Given the description of an element on the screen output the (x, y) to click on. 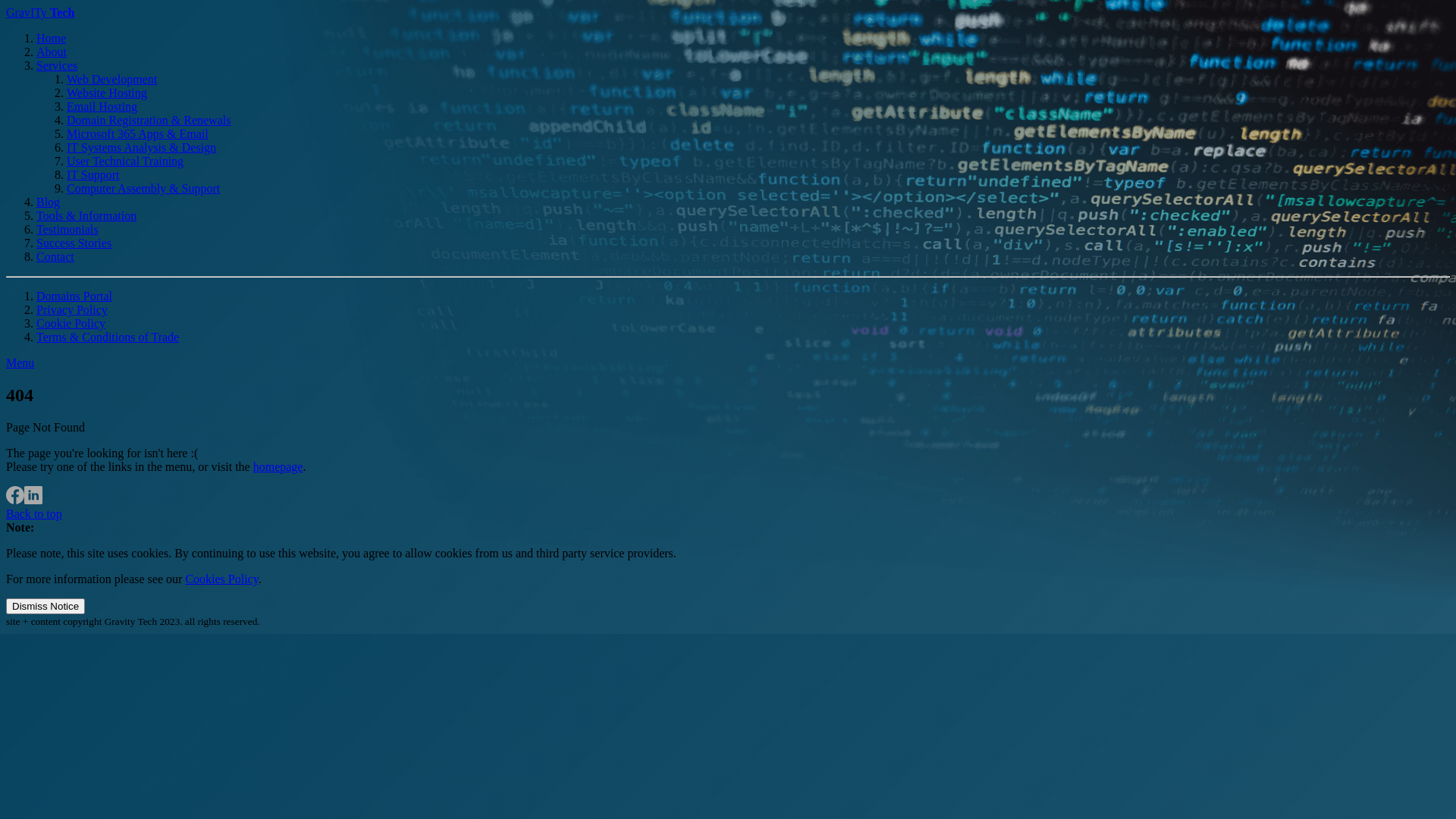
homepage Element type: text (278, 466)
Microsoft 365 Apps & Email Element type: text (137, 133)
Terms & Conditions of Trade Element type: text (107, 336)
Cookies Policy Element type: text (221, 578)
Back to top Element type: text (34, 513)
Web Development Element type: text (111, 78)
Dismiss Notice Element type: text (45, 606)
Home Element type: text (50, 37)
Computer Assembly & Support Element type: text (142, 188)
Domain Registration & Renewals Element type: text (148, 119)
Gravity Tech on LinkedIn Element type: hover (33, 499)
Contact Element type: text (55, 256)
About Element type: text (51, 51)
Testimonials Element type: text (67, 228)
Services Element type: text (56, 65)
GravITy Tech Element type: text (40, 12)
Gravity Tech on Facebook Element type: hover (15, 499)
User Technical Training Element type: text (124, 160)
Domains Portal Element type: text (74, 295)
Menu Element type: text (20, 362)
Blog Element type: text (47, 201)
Email Hosting Element type: text (101, 106)
IT Support Element type: text (92, 174)
Privacy Policy Element type: text (71, 309)
Website Hosting Element type: text (106, 92)
IT Systems Analysis & Design Element type: text (141, 147)
Cookie Policy Element type: text (70, 322)
Success Stories Element type: text (73, 242)
Tools & Information Element type: text (86, 215)
